Given the description of an element on the screen output the (x, y) to click on. 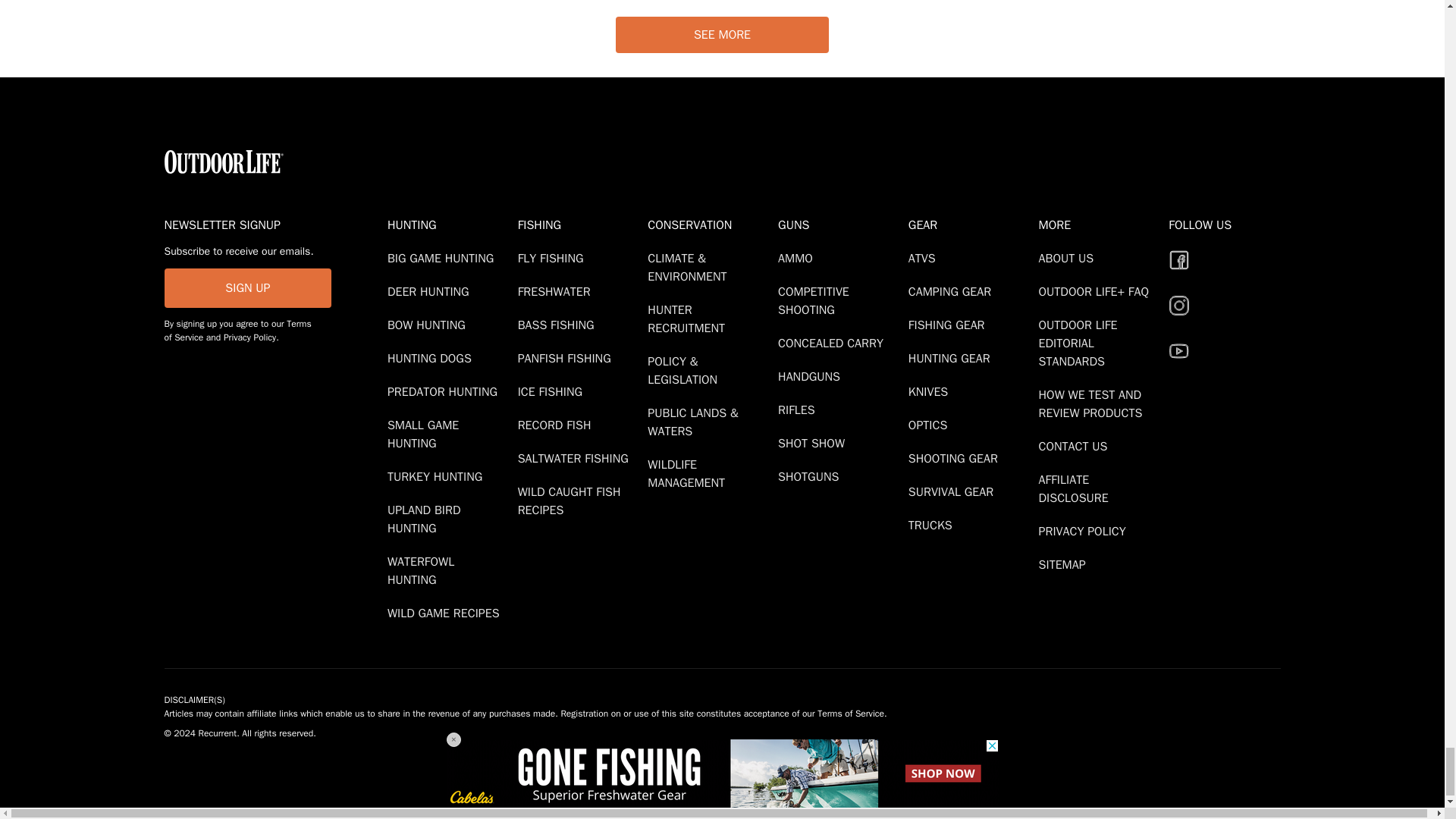
Big Game Hunting (443, 258)
Hunting (449, 225)
